Given the description of an element on the screen output the (x, y) to click on. 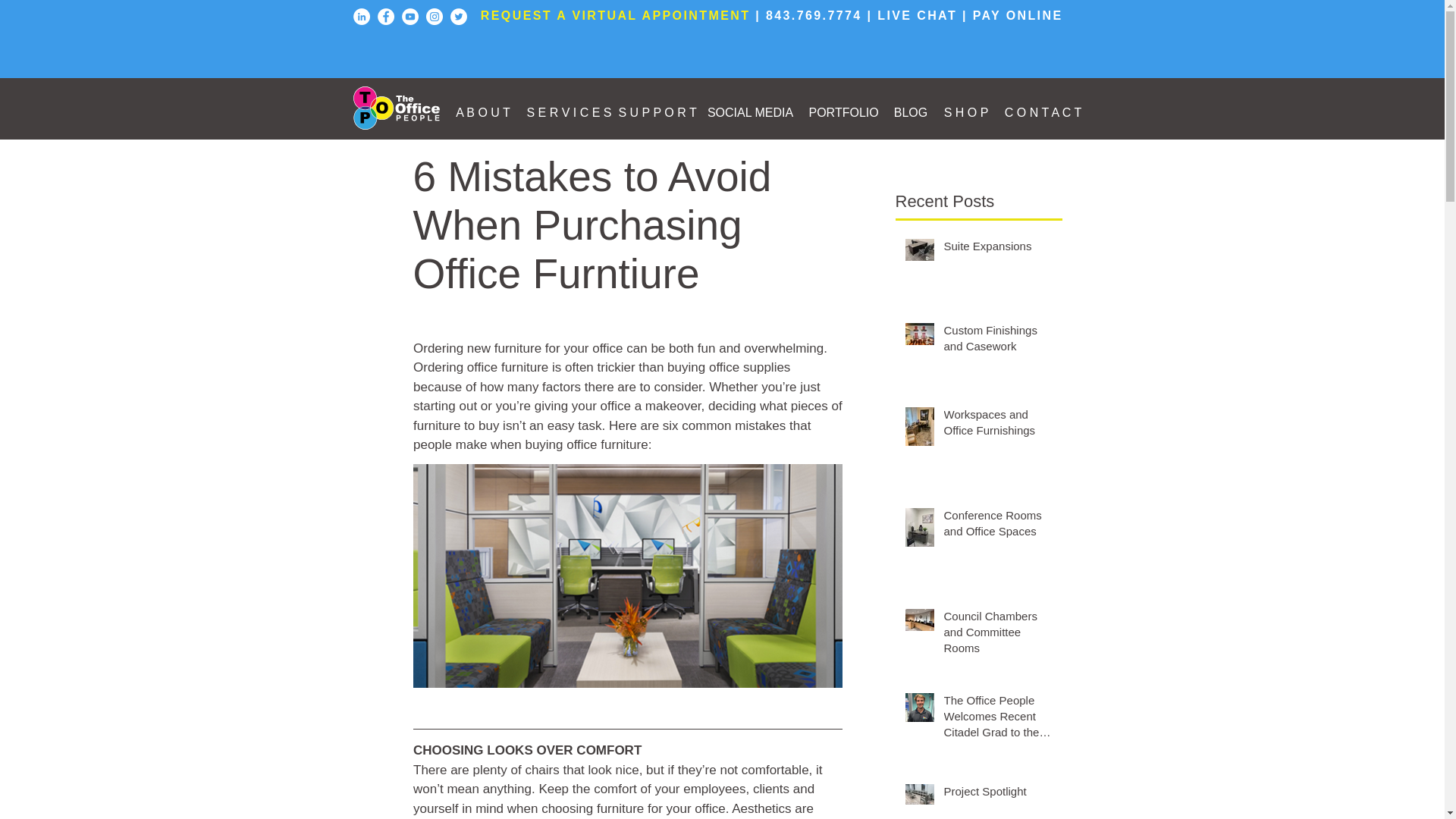
C O N T A C T (1042, 112)
BLOG (910, 112)
843.769.7774 (813, 15)
PORTFOLIO (842, 112)
LIVE CHAT (916, 15)
S U P P O R T (655, 112)
S H O P (965, 112)
REQUEST A VIRTUAL APPOINTMENT (615, 15)
PAY ONLINE (1017, 15)
SOCIAL MEDIA (749, 112)
